Given the description of an element on the screen output the (x, y) to click on. 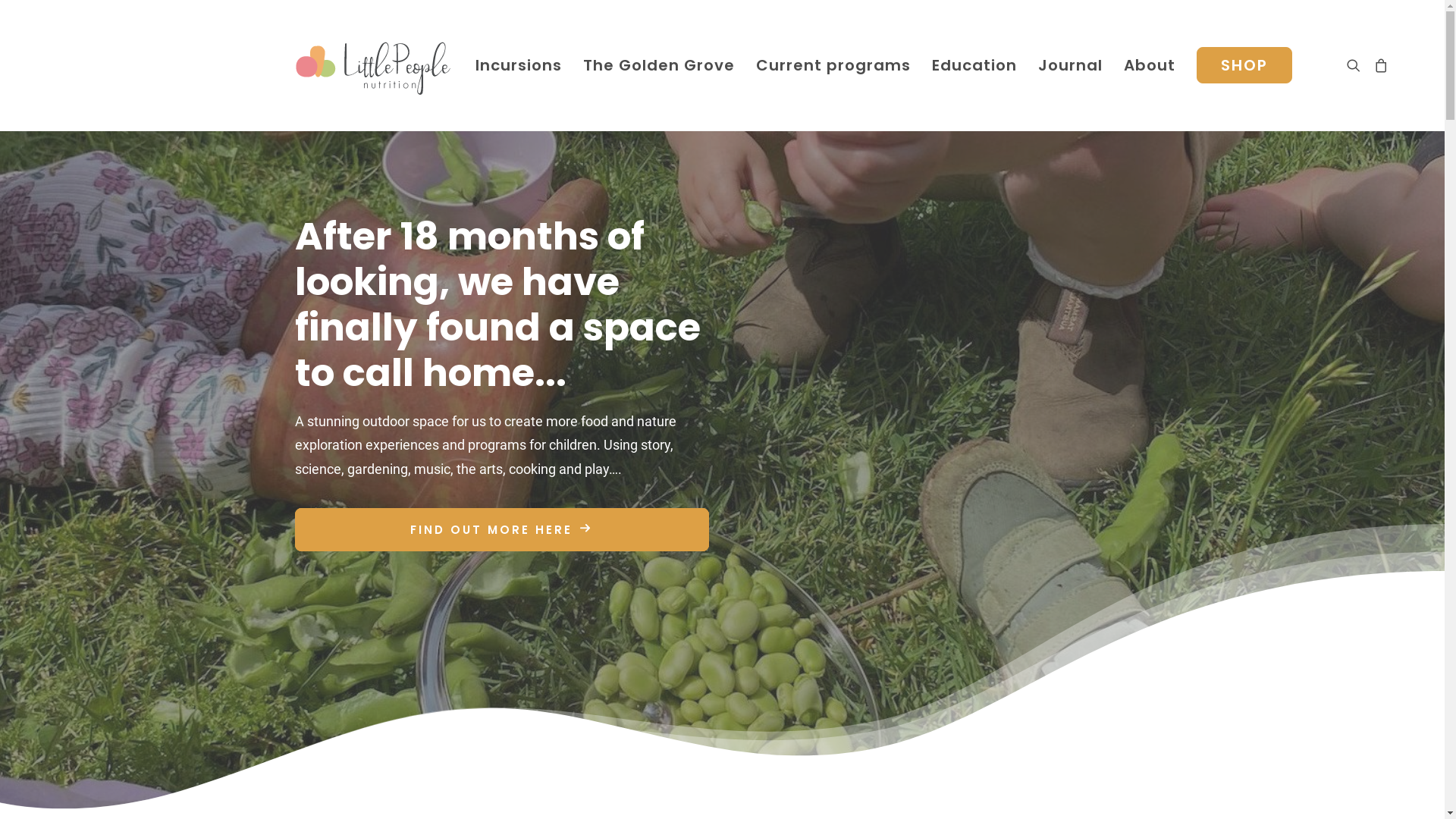
Incursions Element type: text (517, 65)
cart Element type: hover (1377, 65)
About Element type: text (1149, 65)
FIND OUT MORE HERE Element type: text (501, 529)
SHOP Element type: text (1239, 65)
Current programs Element type: text (832, 65)
Journal Element type: text (1069, 65)
Education Element type: text (973, 65)
The Golden Grove Element type: text (657, 65)
